Given the description of an element on the screen output the (x, y) to click on. 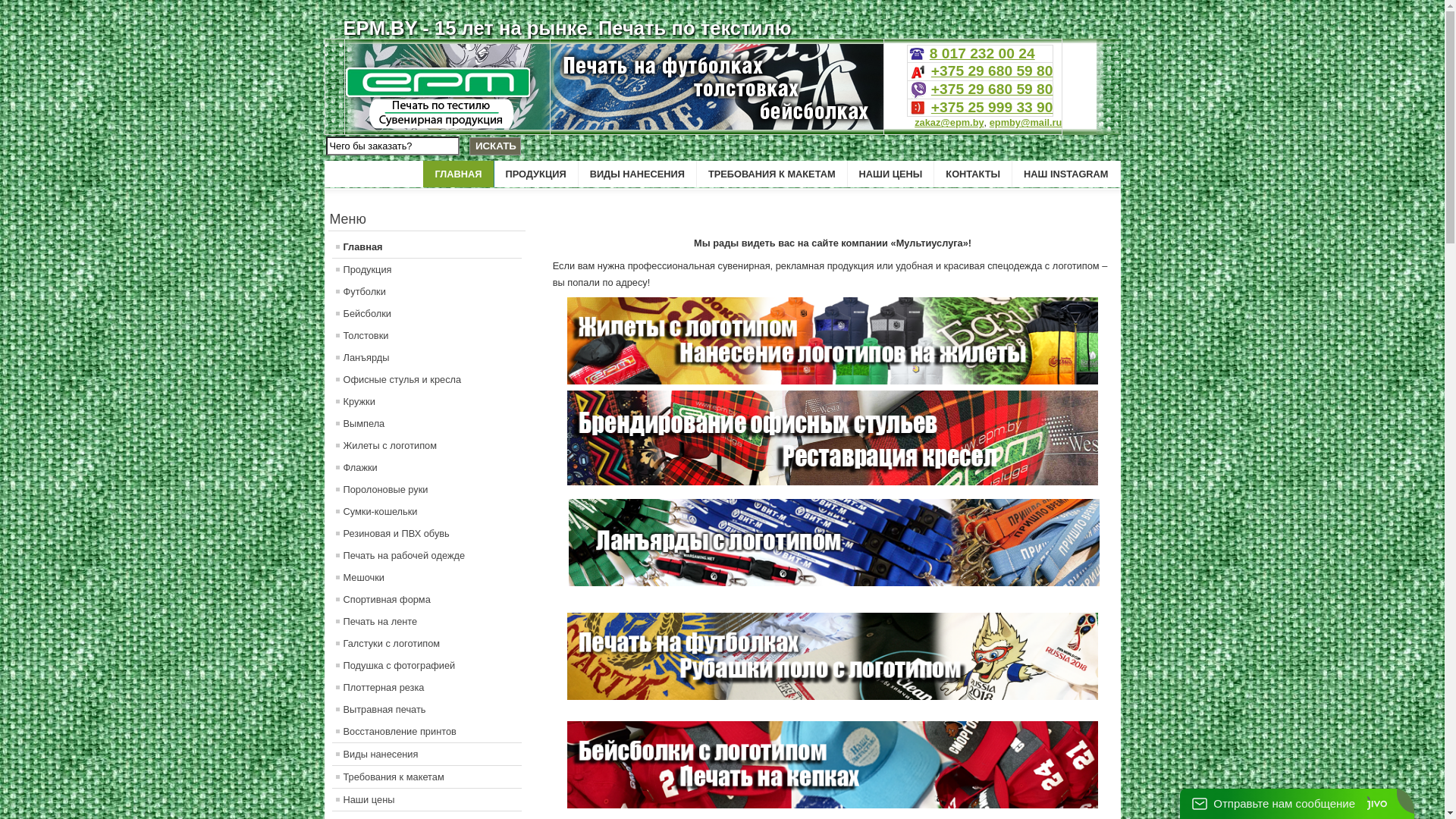
epmby@mail.ru Element type: text (1025, 122)
zakaz@epm.by Element type: text (948, 122)
+375 25 999 33 90 Element type: text (992, 107)
8 017 232 00 24 Element type: text (982, 53)
+375 29 680 59 80 Element type: text (992, 70)
+375 29 680 59 80 Element type: text (992, 89)
